Given the description of an element on the screen output the (x, y) to click on. 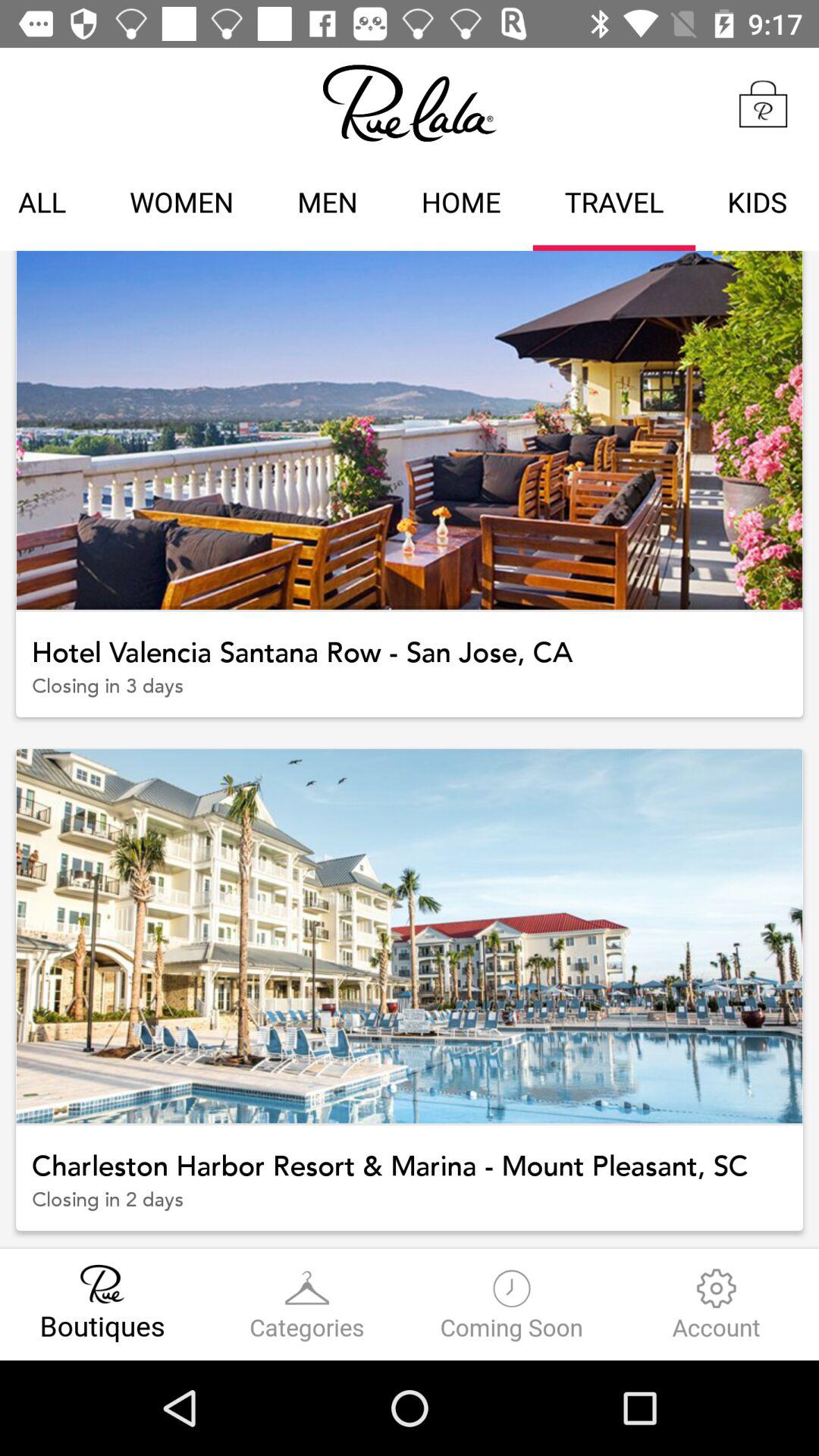
swipe to the all icon (48, 204)
